Given the description of an element on the screen output the (x, y) to click on. 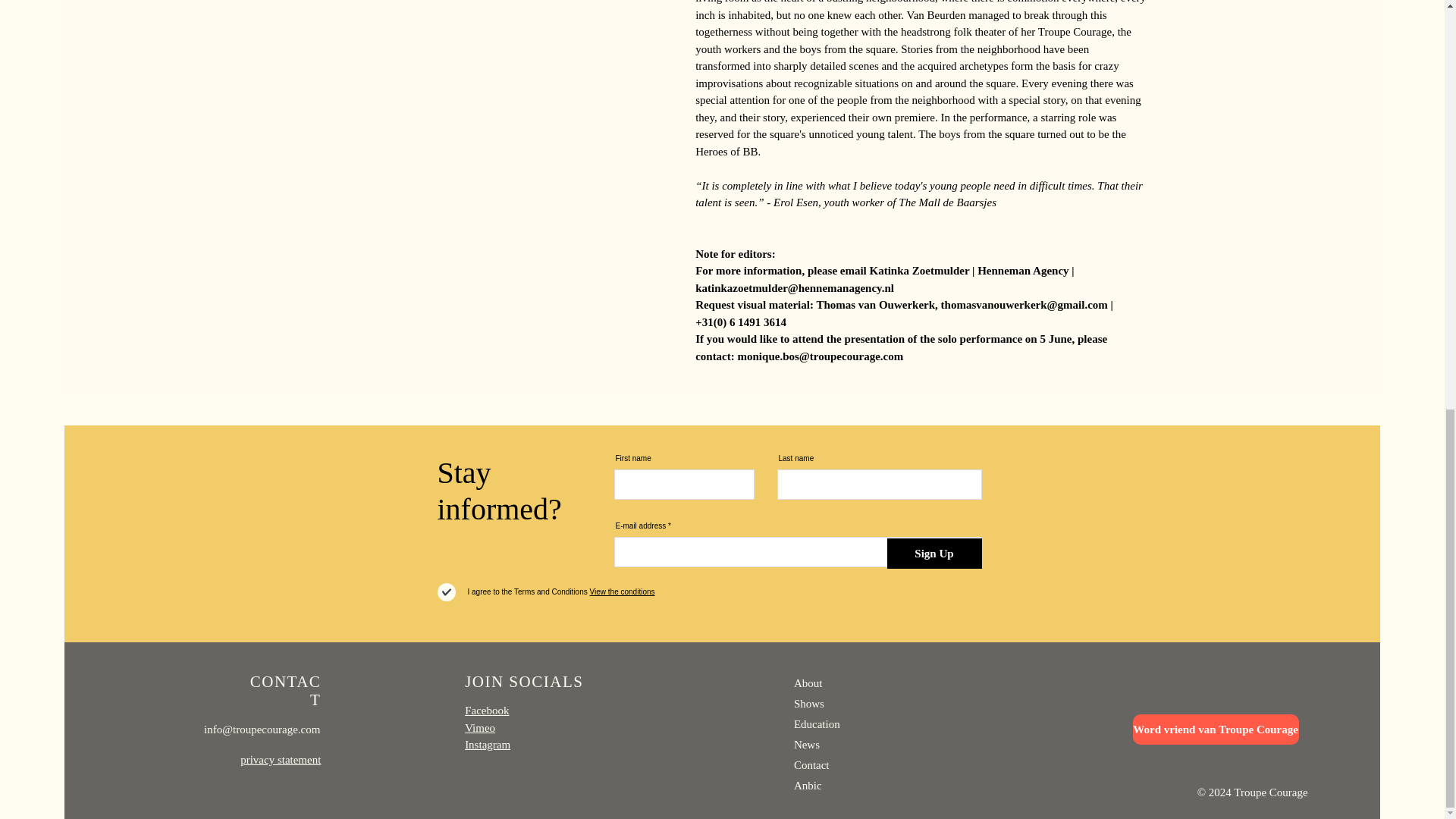
Vimeo (479, 727)
Education (816, 724)
About (807, 683)
Instagram (487, 744)
Facebook (486, 710)
Sign Up (933, 553)
Shows (808, 702)
privacy statement (280, 759)
View the conditions (621, 592)
News (806, 743)
